Given the description of an element on the screen output the (x, y) to click on. 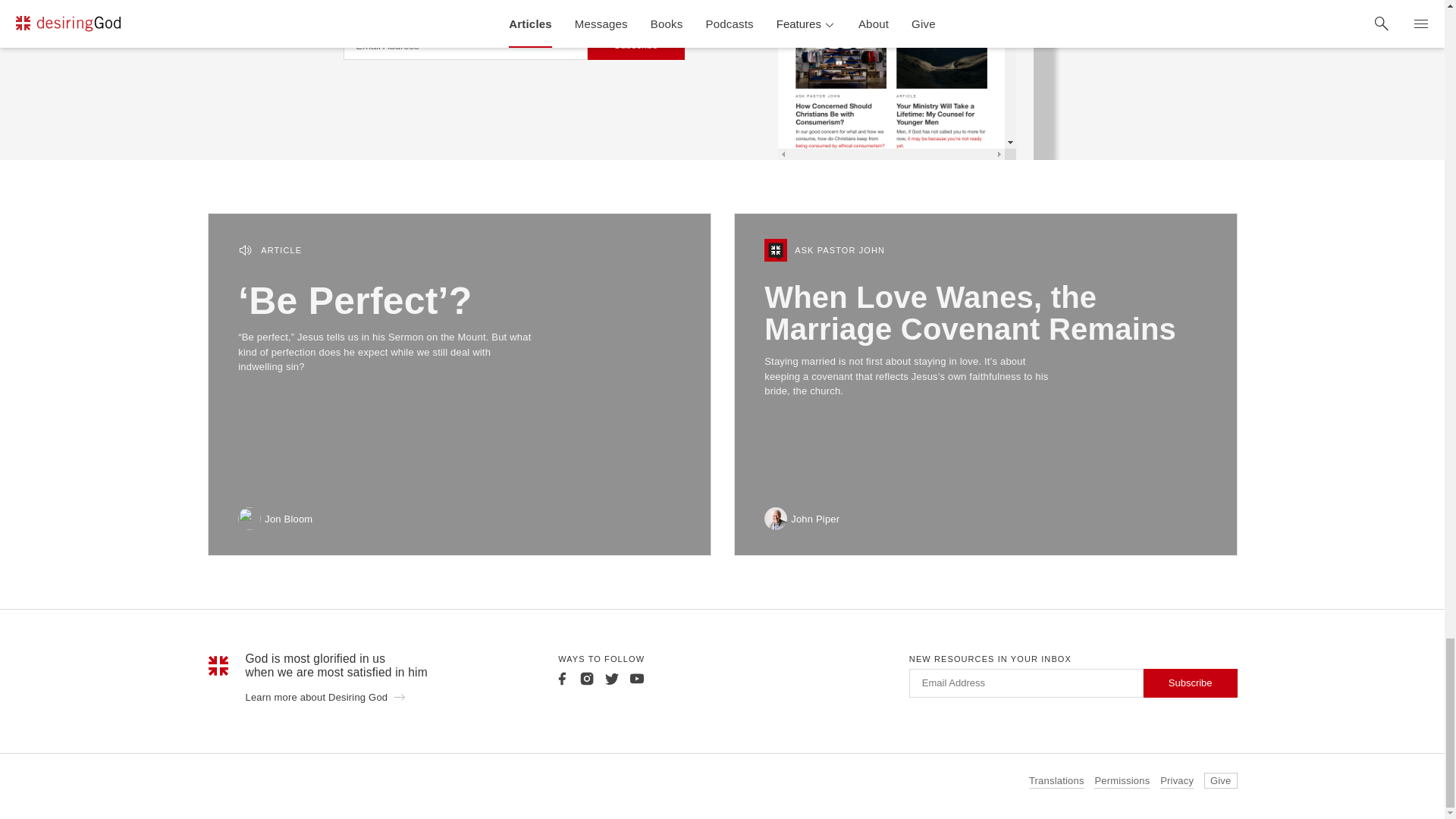
Arrow (399, 696)
Mark - Large (218, 665)
Twitter (612, 678)
